Given the description of an element on the screen output the (x, y) to click on. 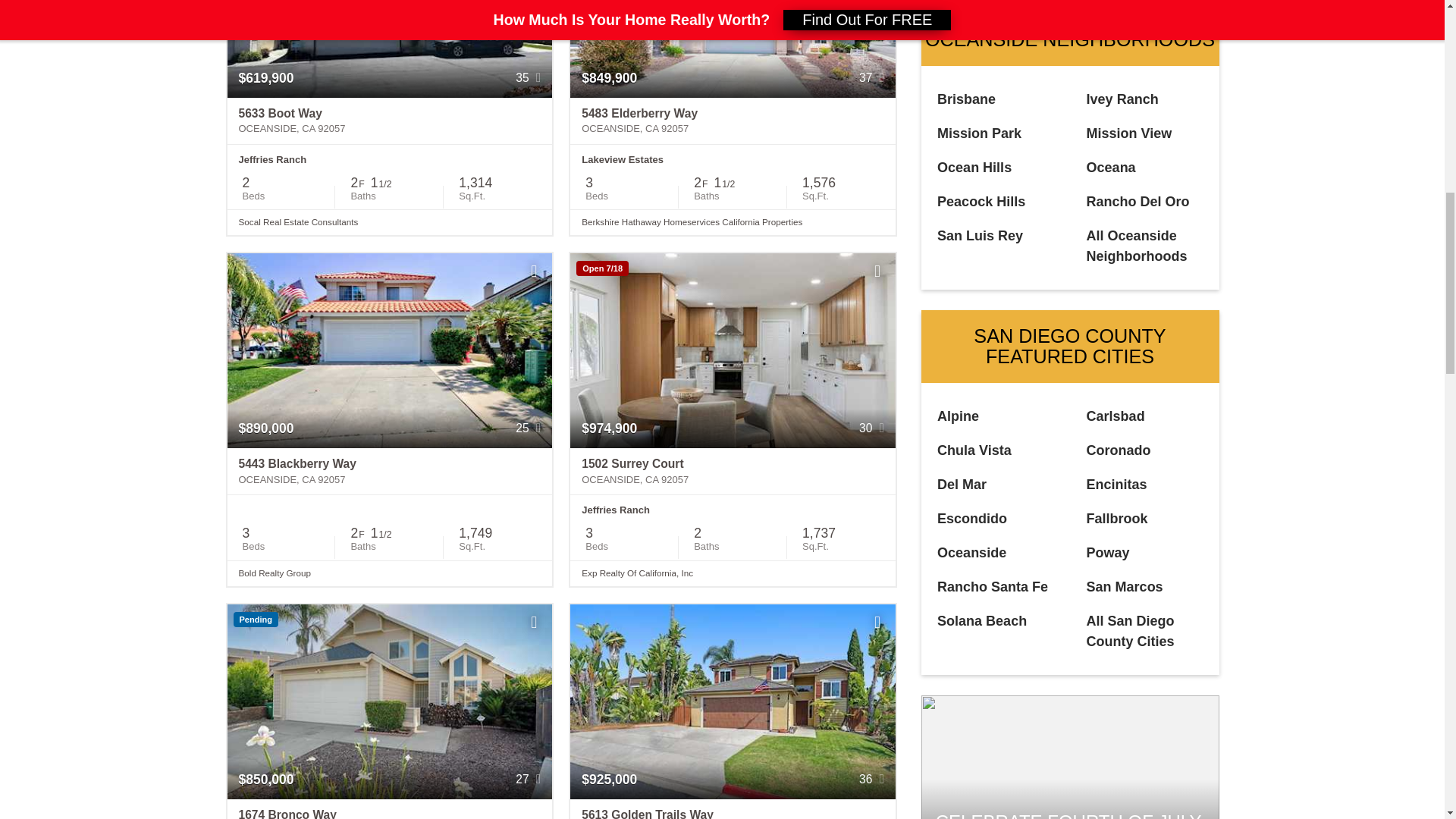
5483 Elderberry Way Oceanside,  CA 92057 (732, 120)
5633 Boot Way Oceanside,  CA 92057 (390, 120)
5443 Blackberry Way Oceanside,  CA 92057 (390, 471)
1502 Surrey Court Oceanside,  CA 92057 (732, 471)
